Given the description of an element on the screen output the (x, y) to click on. 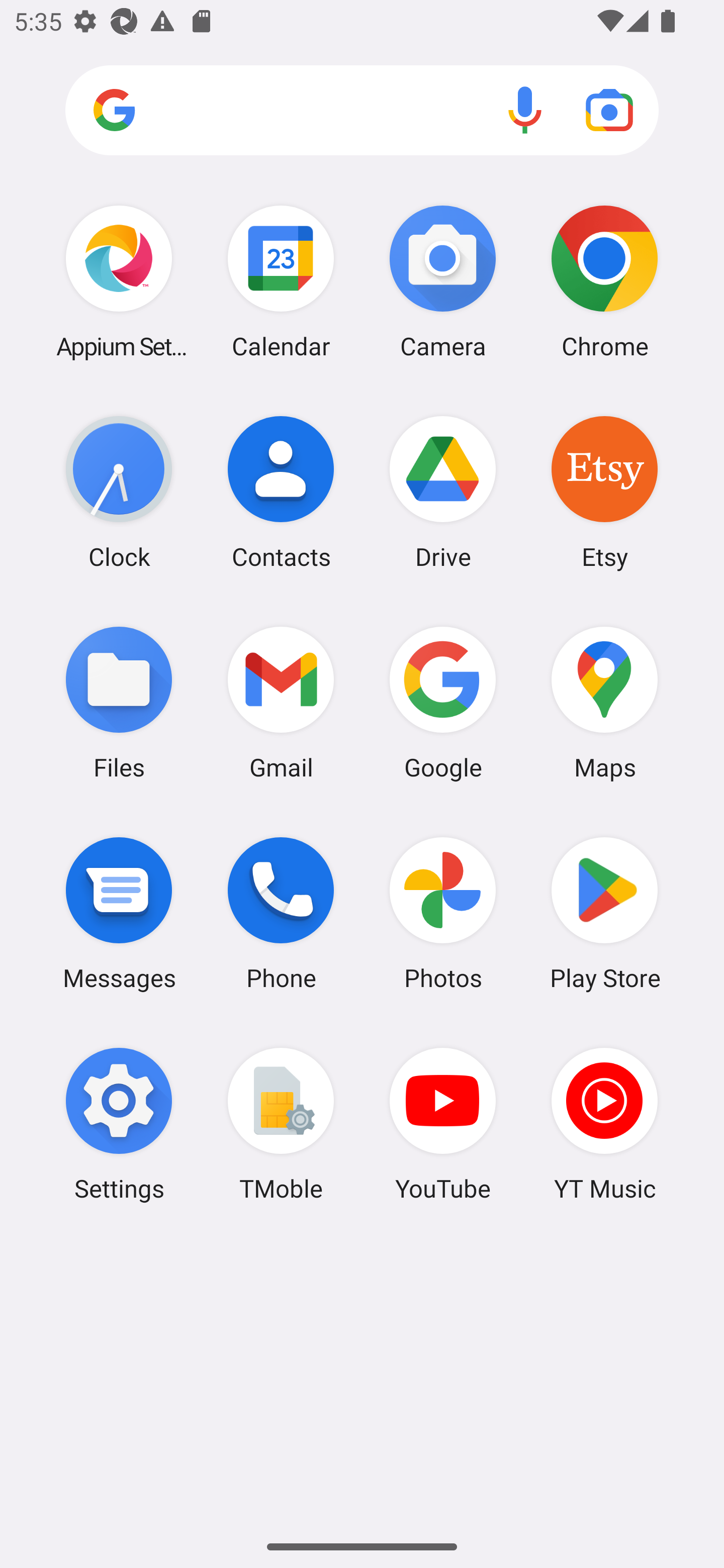
Search apps, web and more (361, 110)
Voice search (524, 109)
Google Lens (608, 109)
Appium Settings (118, 281)
Calendar (280, 281)
Camera (443, 281)
Chrome (604, 281)
Clock (118, 492)
Contacts (280, 492)
Drive (443, 492)
Etsy (604, 492)
Files (118, 702)
Gmail (280, 702)
Google (443, 702)
Maps (604, 702)
Messages (118, 913)
Phone (280, 913)
Photos (443, 913)
Play Store (604, 913)
Settings (118, 1124)
TMoble (280, 1124)
YouTube (443, 1124)
YT Music (604, 1124)
